Given the description of an element on the screen output the (x, y) to click on. 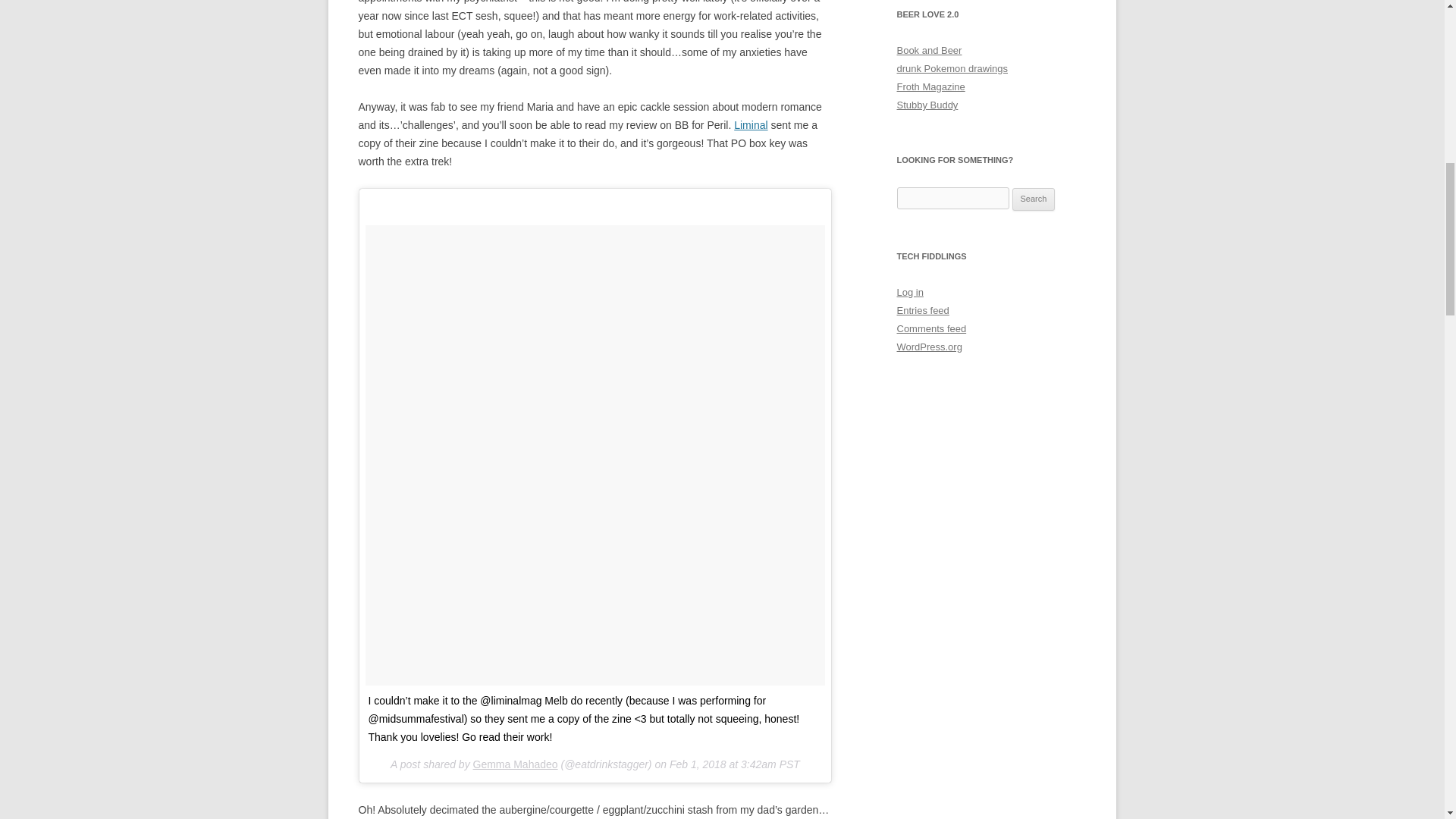
Liminal (750, 124)
Gemma Mahadeo (515, 764)
Search (1033, 199)
